Given the description of an element on the screen output the (x, y) to click on. 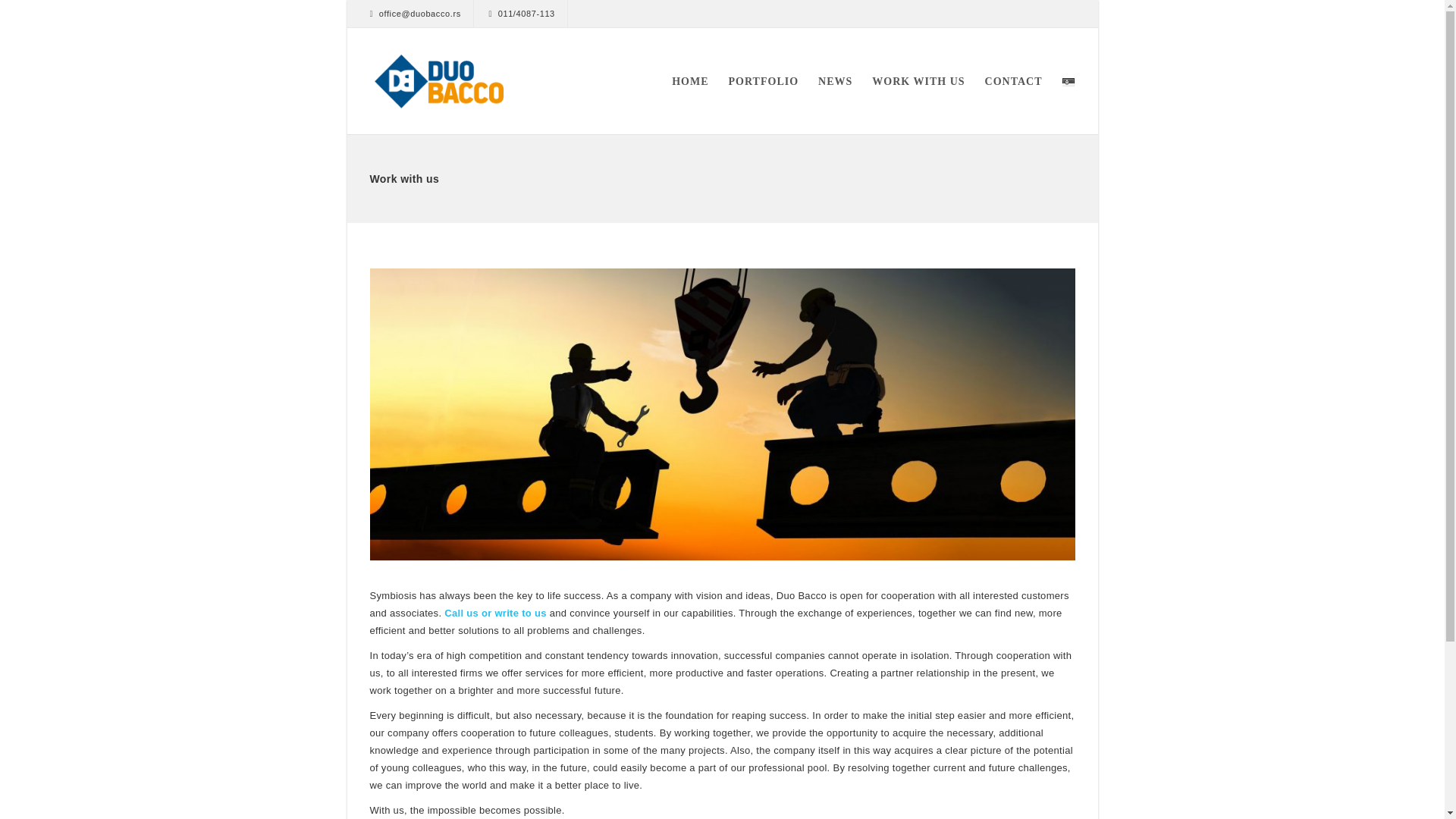
Duo Bacco (440, 80)
